Given the description of an element on the screen output the (x, y) to click on. 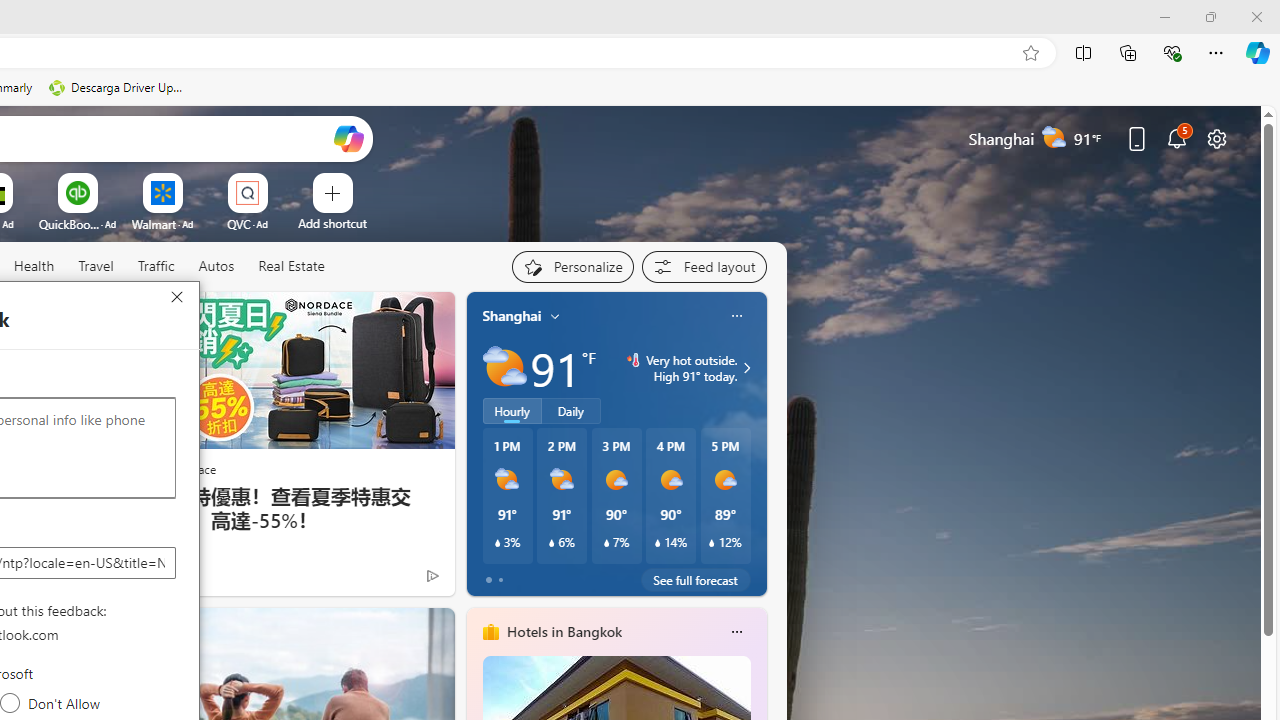
Real Estate (290, 267)
Class: weather-arrow-glyph (746, 367)
Real Estate (291, 265)
Travel (95, 267)
Class: weather-current-precipitation-glyph (712, 543)
Personalize your feed" (571, 266)
Hourly (511, 411)
Add a site (332, 223)
